Given the description of an element on the screen output the (x, y) to click on. 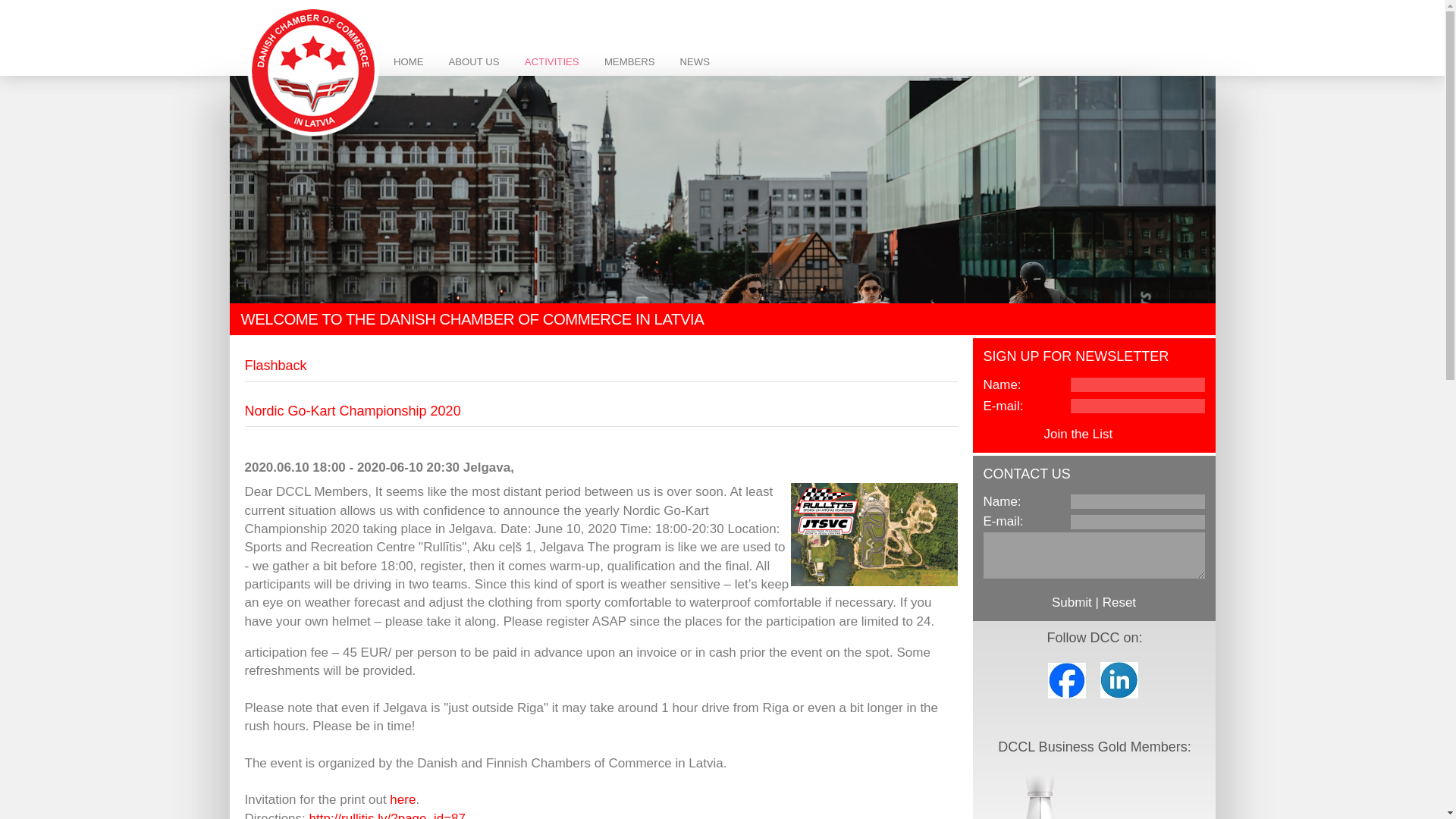
ABOUT US (473, 61)
Submit (1071, 602)
View (1130, 433)
Reset (1118, 602)
Join the List (1077, 433)
ACTIVITIES (551, 61)
here (402, 799)
MEMBERS (628, 61)
HOME (407, 61)
